Given the description of an element on the screen output the (x, y) to click on. 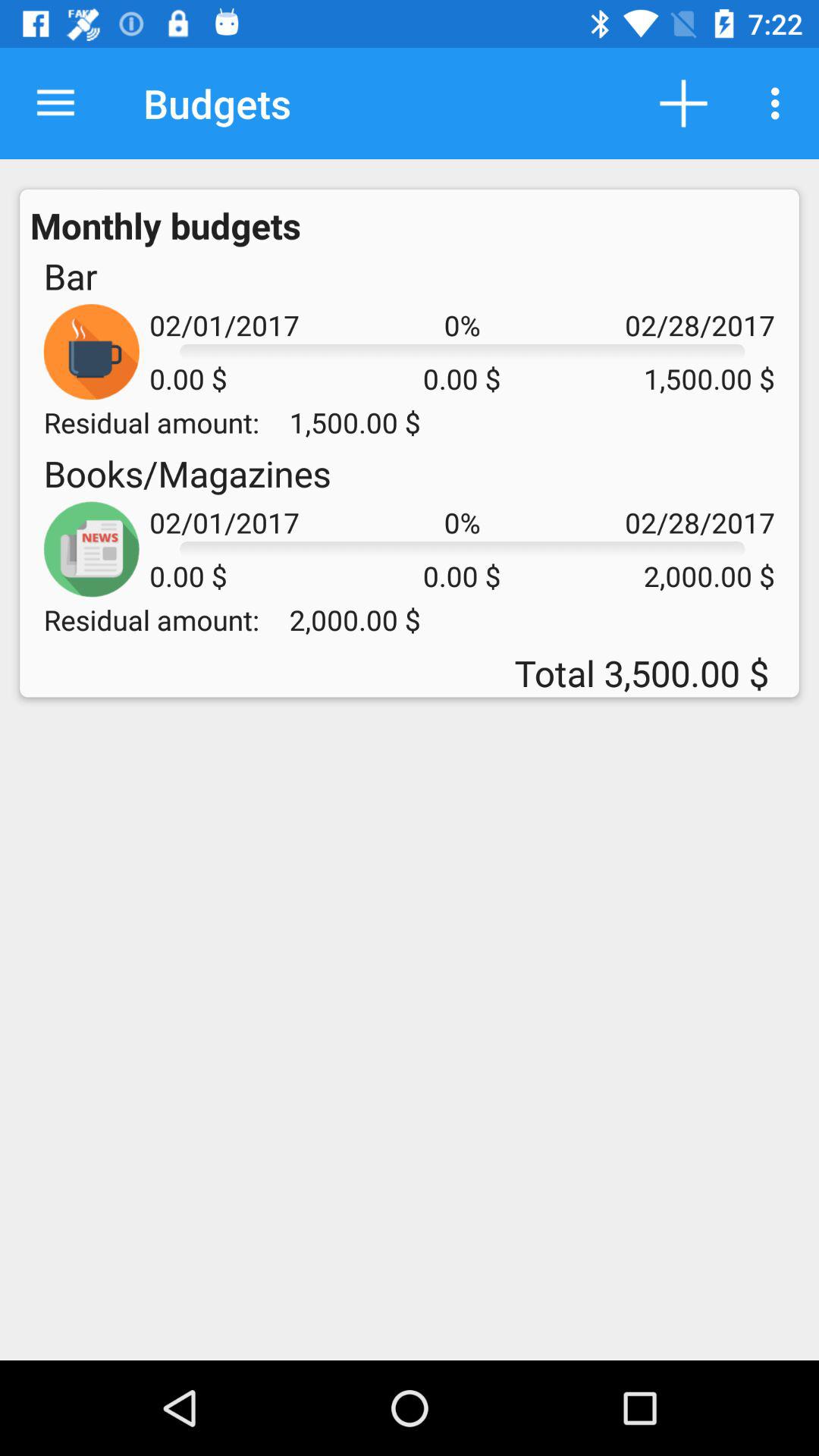
press books/magazines icon (187, 473)
